Given the description of an element on the screen output the (x, y) to click on. 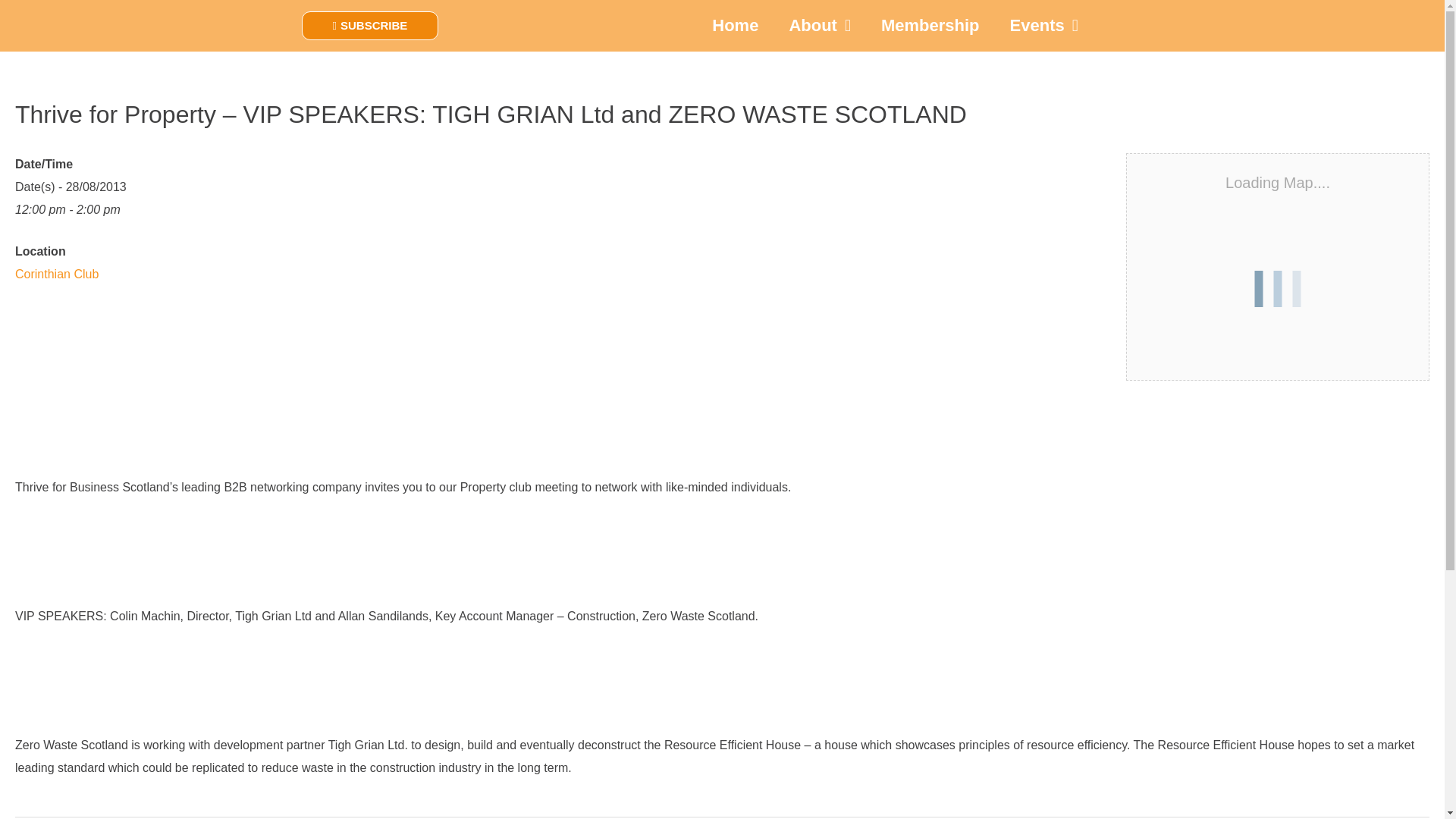
Home (735, 25)
Events (1043, 25)
Membership (930, 25)
Corinthian Club (56, 273)
About (819, 25)
SUBSCRIBE (370, 25)
